Given the description of an element on the screen output the (x, y) to click on. 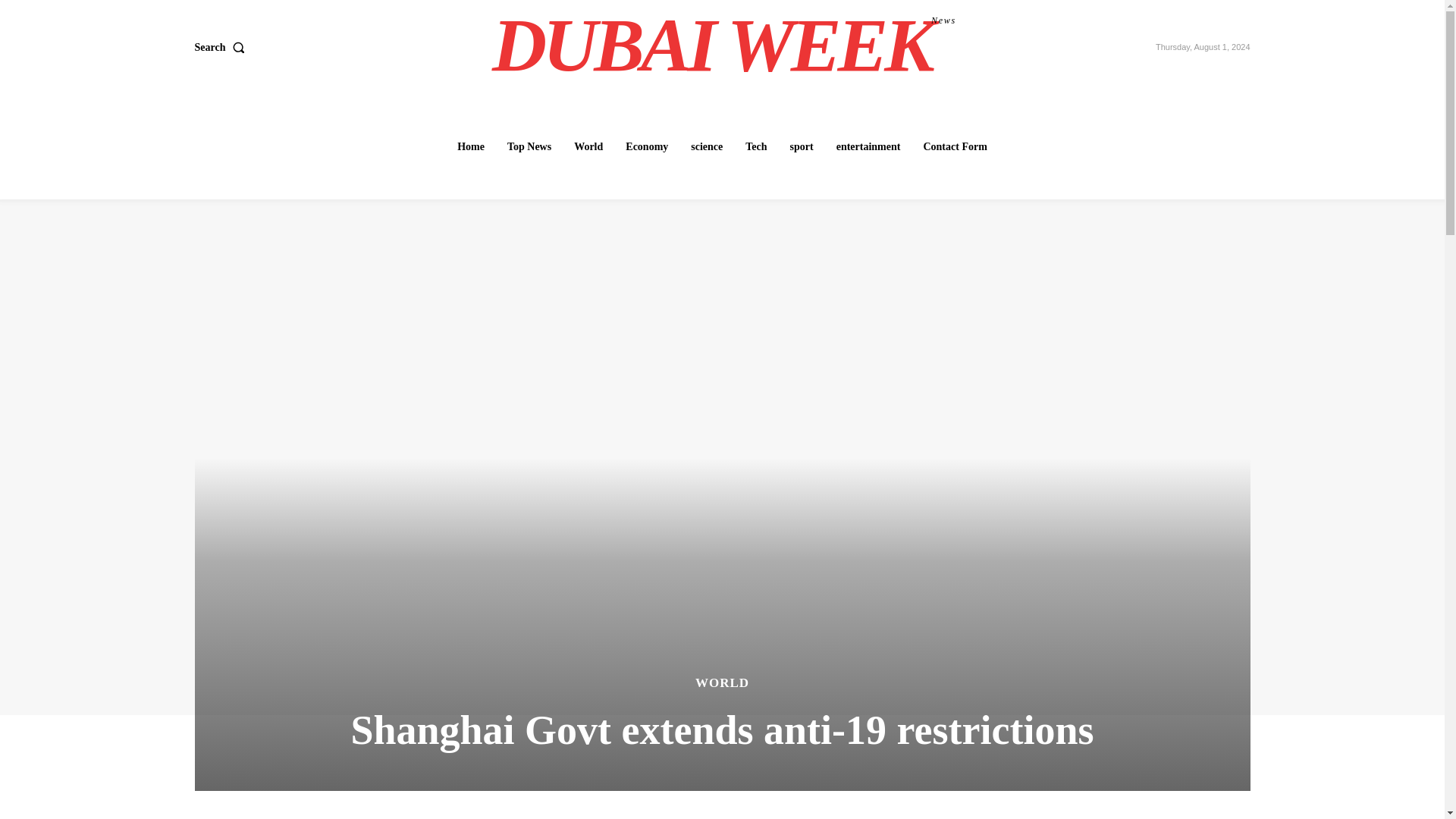
Economy (646, 146)
Home (470, 146)
Top News (529, 146)
science (706, 146)
Contact Form (954, 146)
World (724, 45)
Tech (588, 146)
Search (756, 146)
sport (221, 47)
entertainment (802, 146)
